Given the description of an element on the screen output the (x, y) to click on. 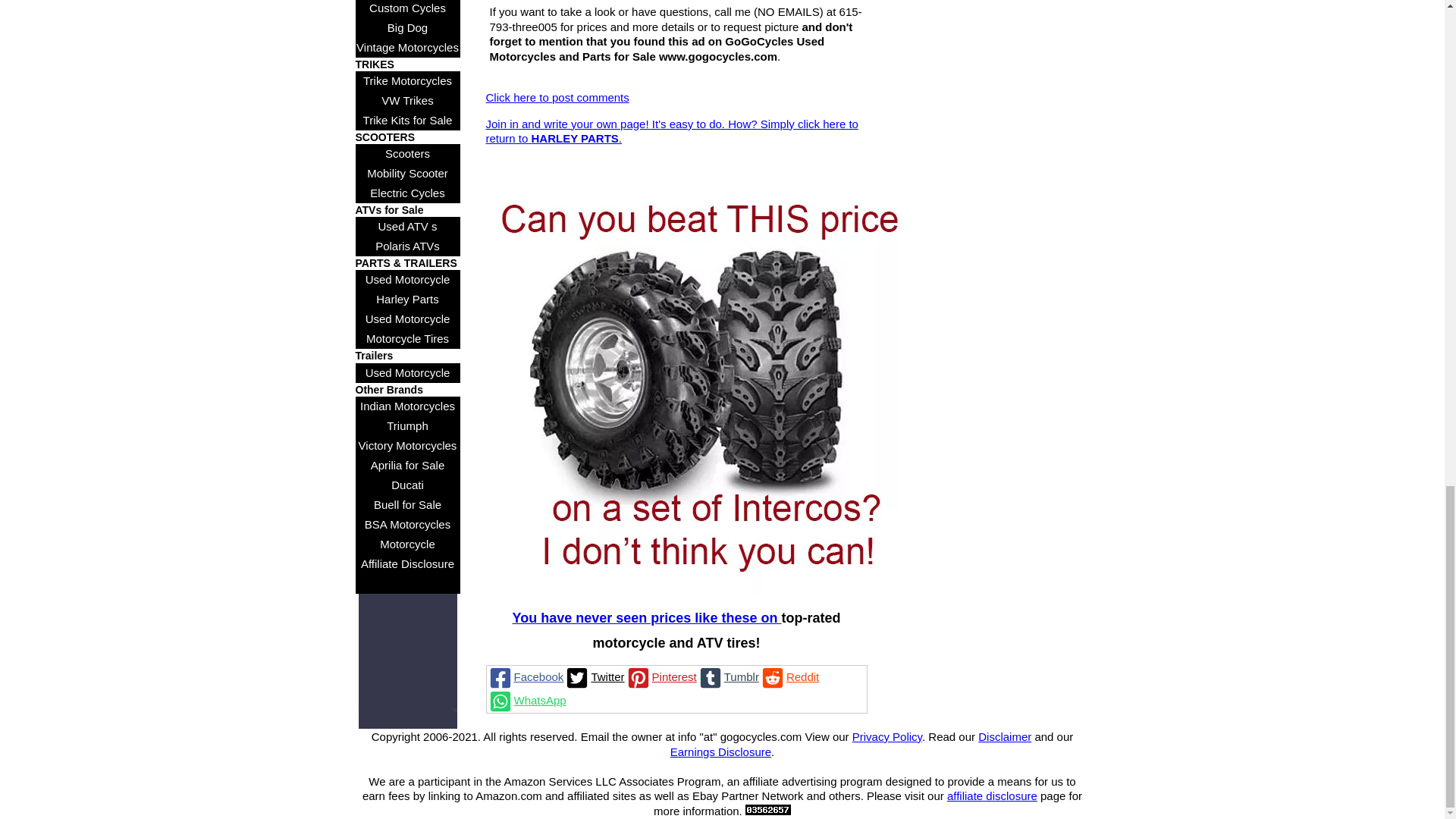
Facebook (525, 677)
Twitter (593, 677)
WhatsApp (526, 700)
Tumblr (727, 677)
You have never seen prices like these on (646, 617)
Click here to post comments (556, 97)
Reddit (788, 677)
Pinterest (660, 677)
